Given the description of an element on the screen output the (x, y) to click on. 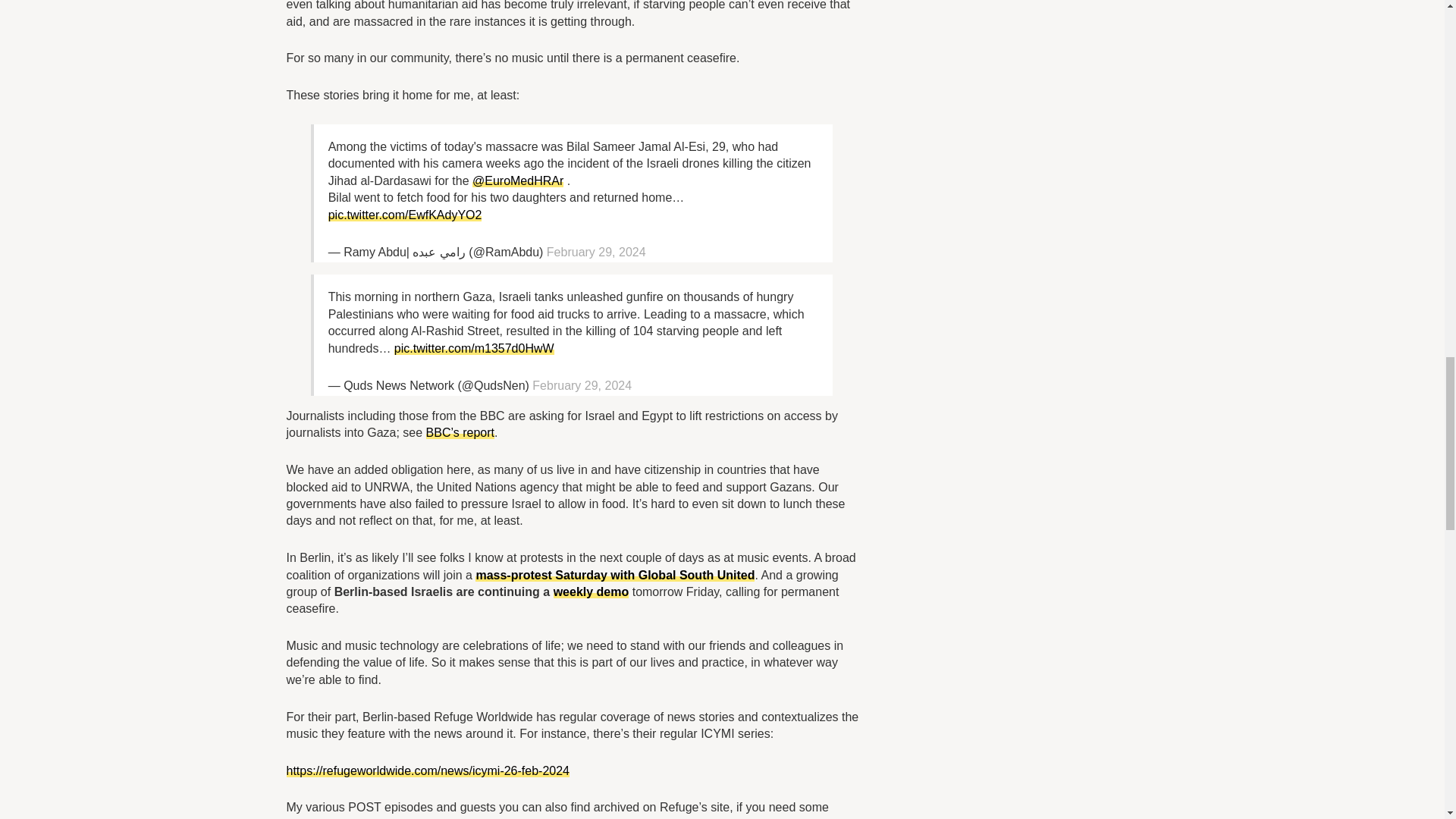
mass-protest Saturday with Global South United (615, 574)
February 29, 2024 (581, 385)
weekly demo (590, 591)
February 29, 2024 (596, 251)
